Given the description of an element on the screen output the (x, y) to click on. 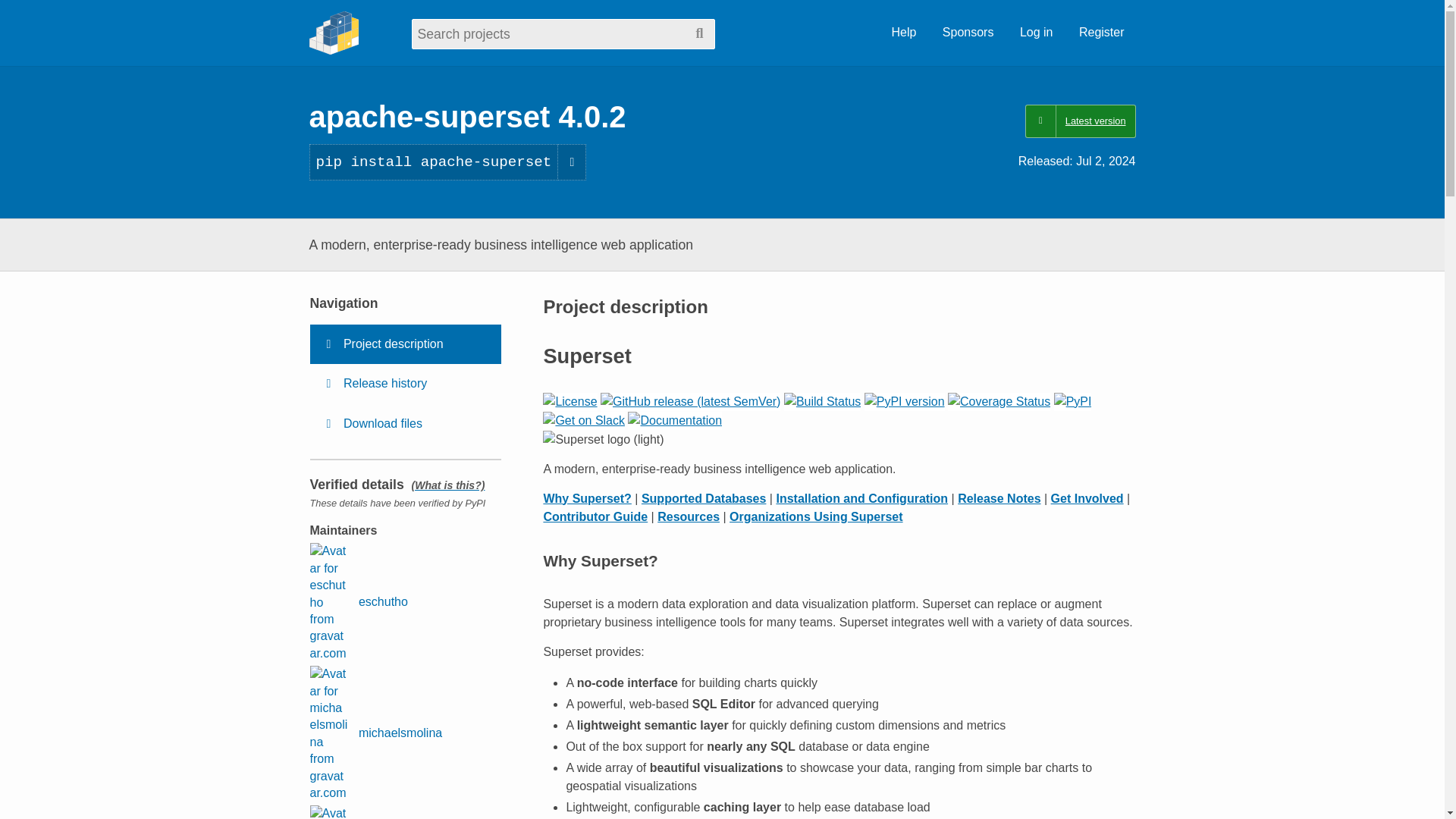
mistercrunch (368, 812)
Avatar for mistercrunch from gravatar.com (327, 812)
Download files (404, 423)
Search (699, 33)
Register (1101, 32)
michaelsmolina (375, 733)
Latest version (1080, 121)
Sponsors (968, 32)
Release history (404, 383)
Project description (404, 343)
